Given the description of an element on the screen output the (x, y) to click on. 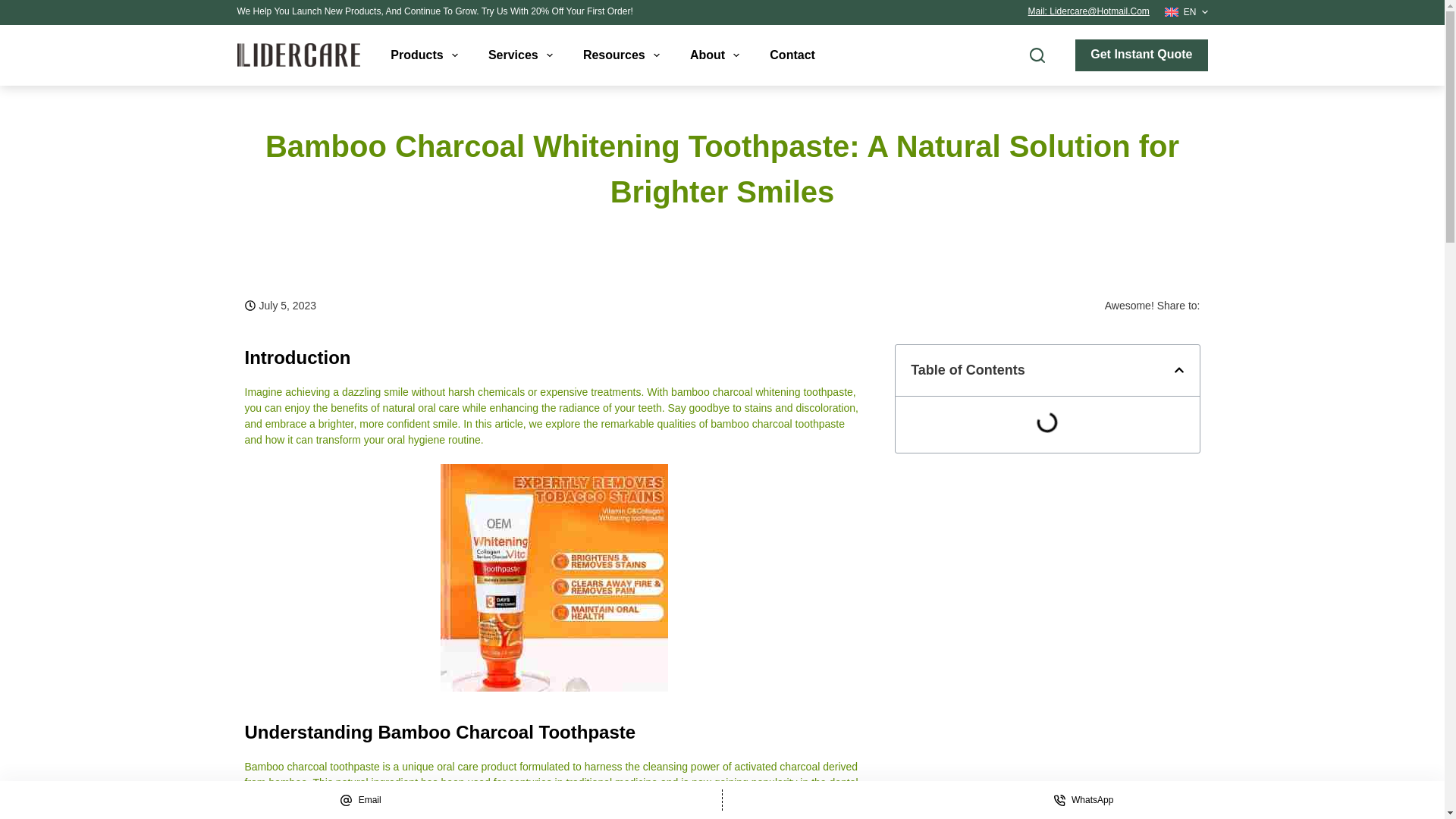
Skip to content (15, 7)
